Given the description of an element on the screen output the (x, y) to click on. 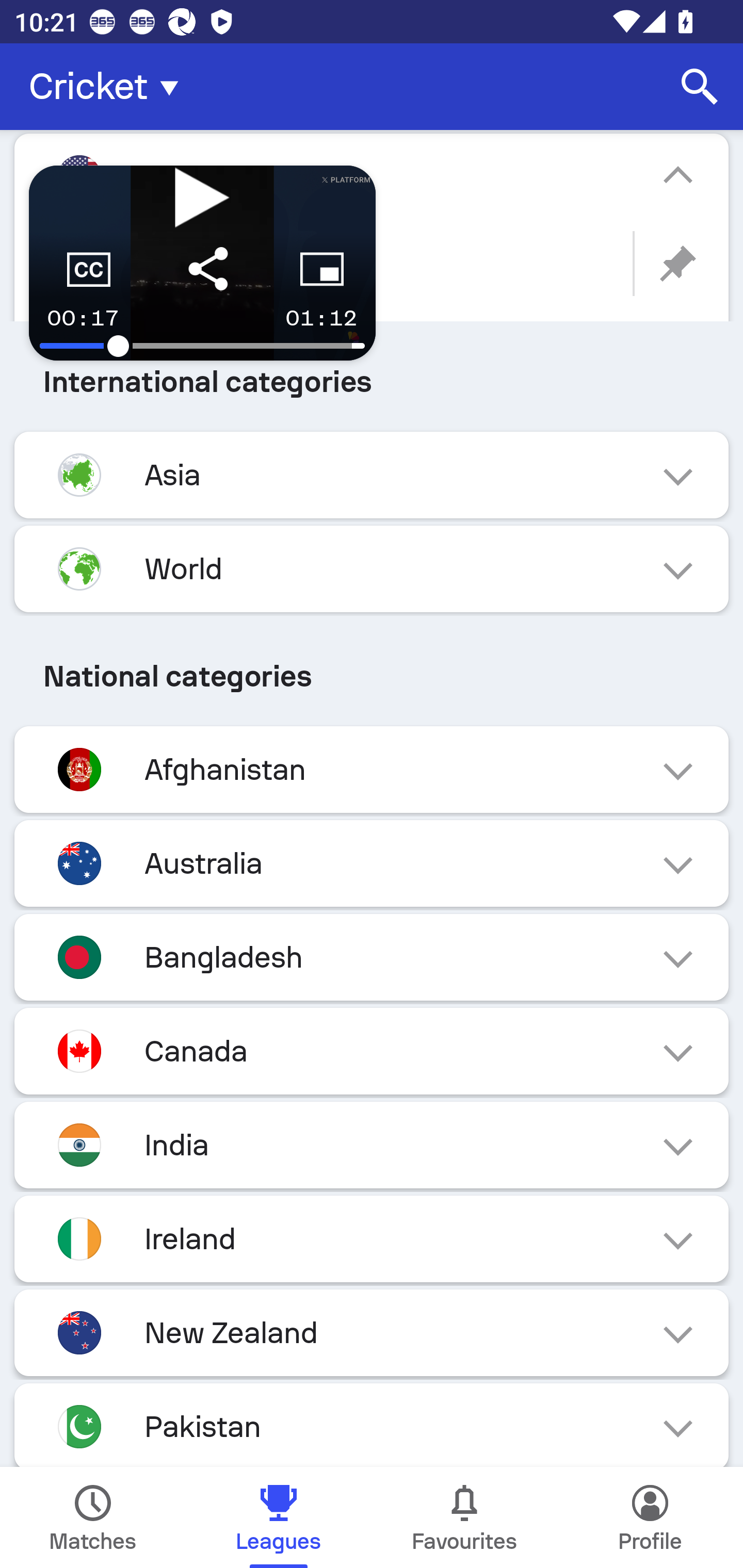
Cricket (109, 86)
Search (699, 86)
International categories (371, 381)
Asia (371, 475)
World (371, 568)
National categories (371, 676)
Afghanistan (371, 768)
Australia (371, 863)
Bangladesh (371, 957)
Canada (371, 1051)
India (371, 1145)
Ireland (371, 1238)
New Zealand (371, 1332)
Pakistan (371, 1424)
Matches (92, 1517)
Favourites (464, 1517)
Profile (650, 1517)
